Given the description of an element on the screen output the (x, y) to click on. 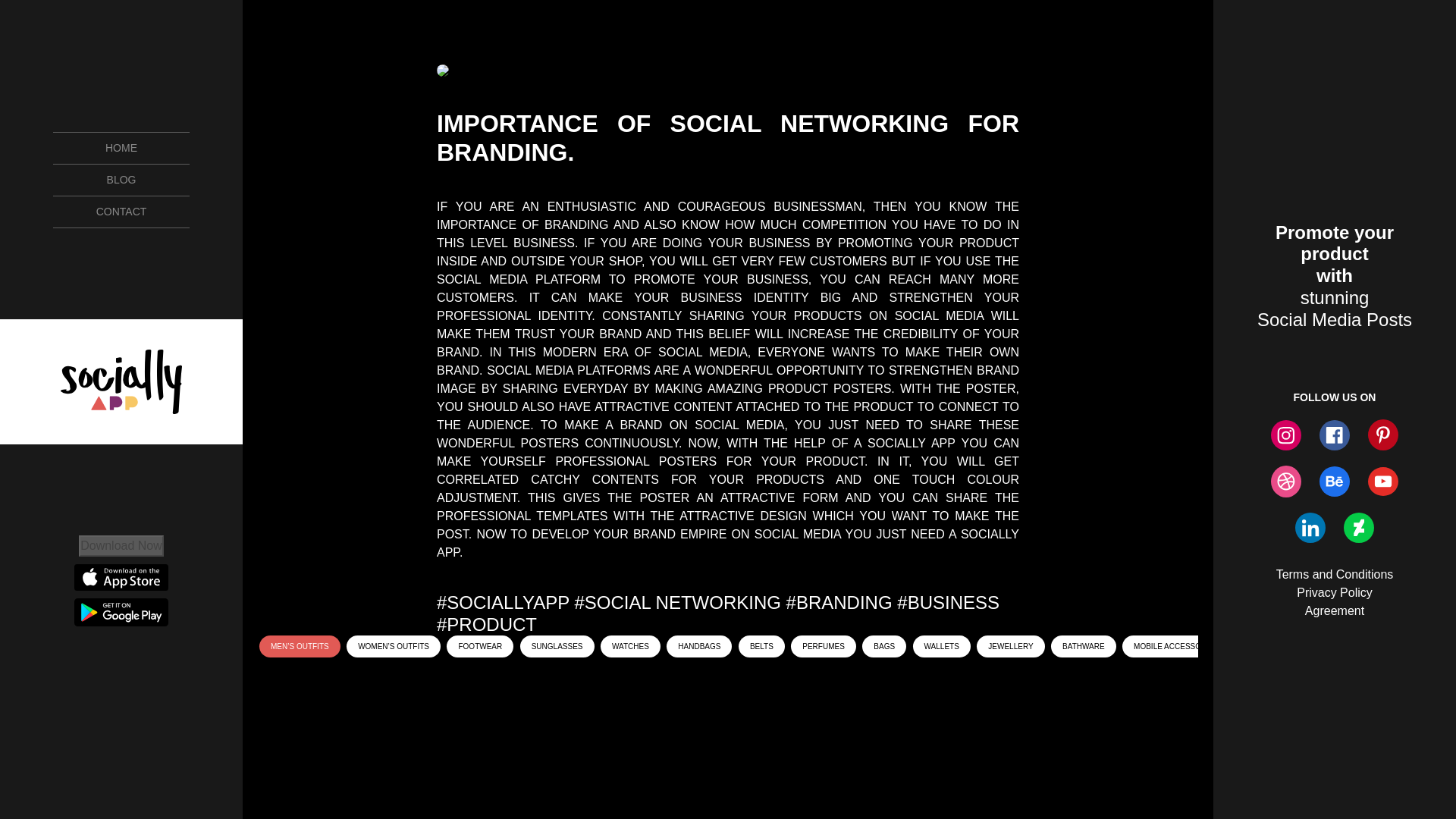
FOOTWEAR (480, 645)
LIGHTING (1265, 645)
BELTS (761, 645)
BATHWARE (1083, 645)
SUNGLASSES (557, 645)
SALOON (1328, 645)
MOBILE ACCESSORIES (1176, 645)
HOME (120, 147)
JEWELLERY (1010, 645)
BLOG (120, 179)
Download Now (120, 545)
BAGS (884, 645)
Download Now (120, 545)
PERFUMES (823, 645)
FURNITURE (1396, 645)
